Given the description of an element on the screen output the (x, y) to click on. 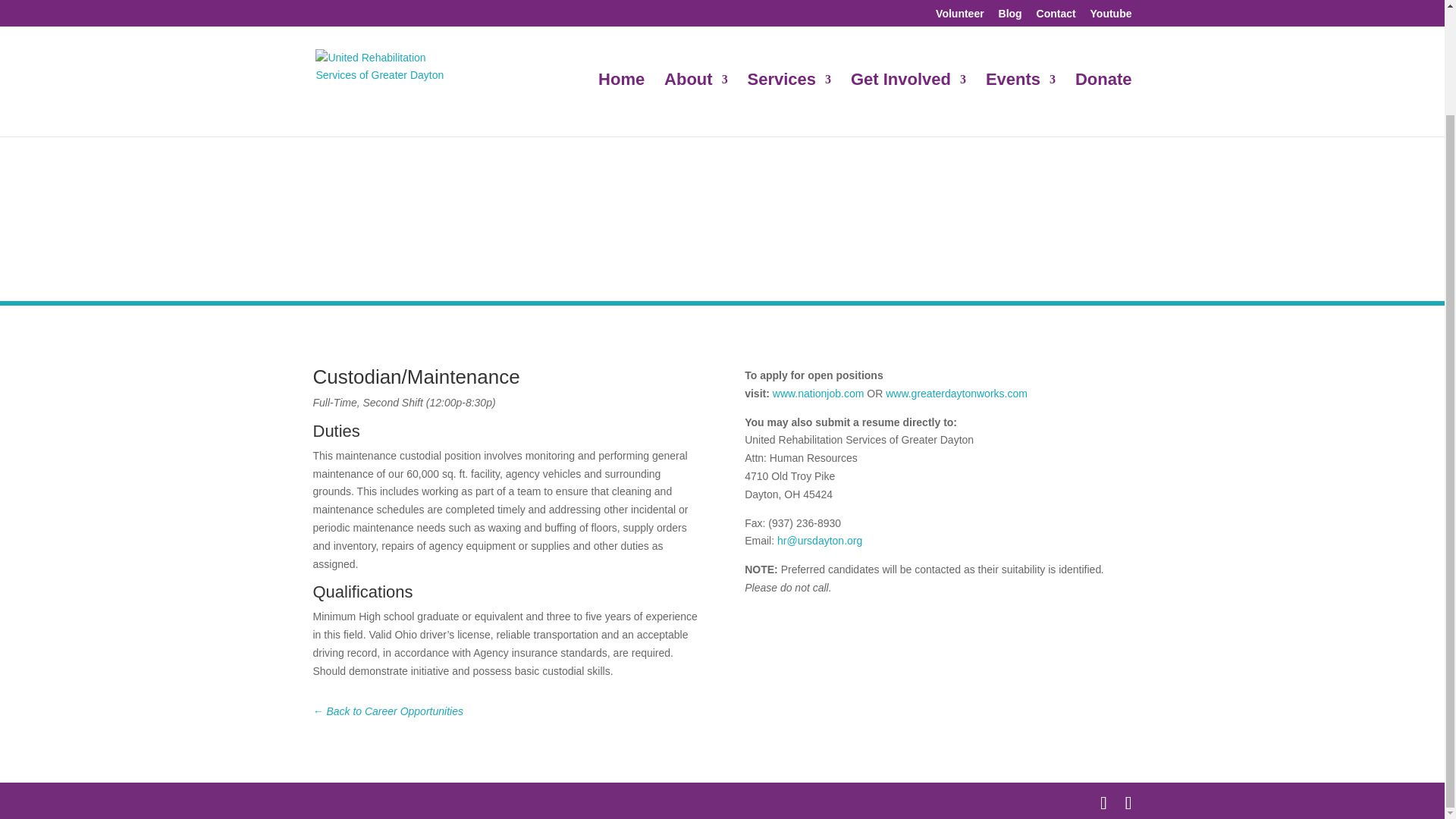
Events (1020, 6)
Home (621, 6)
Get Involved (908, 6)
Career Opportunities (388, 711)
About (695, 6)
Donate (1103, 6)
www.nationjob.com (818, 393)
Services (789, 6)
